Given the description of an element on the screen output the (x, y) to click on. 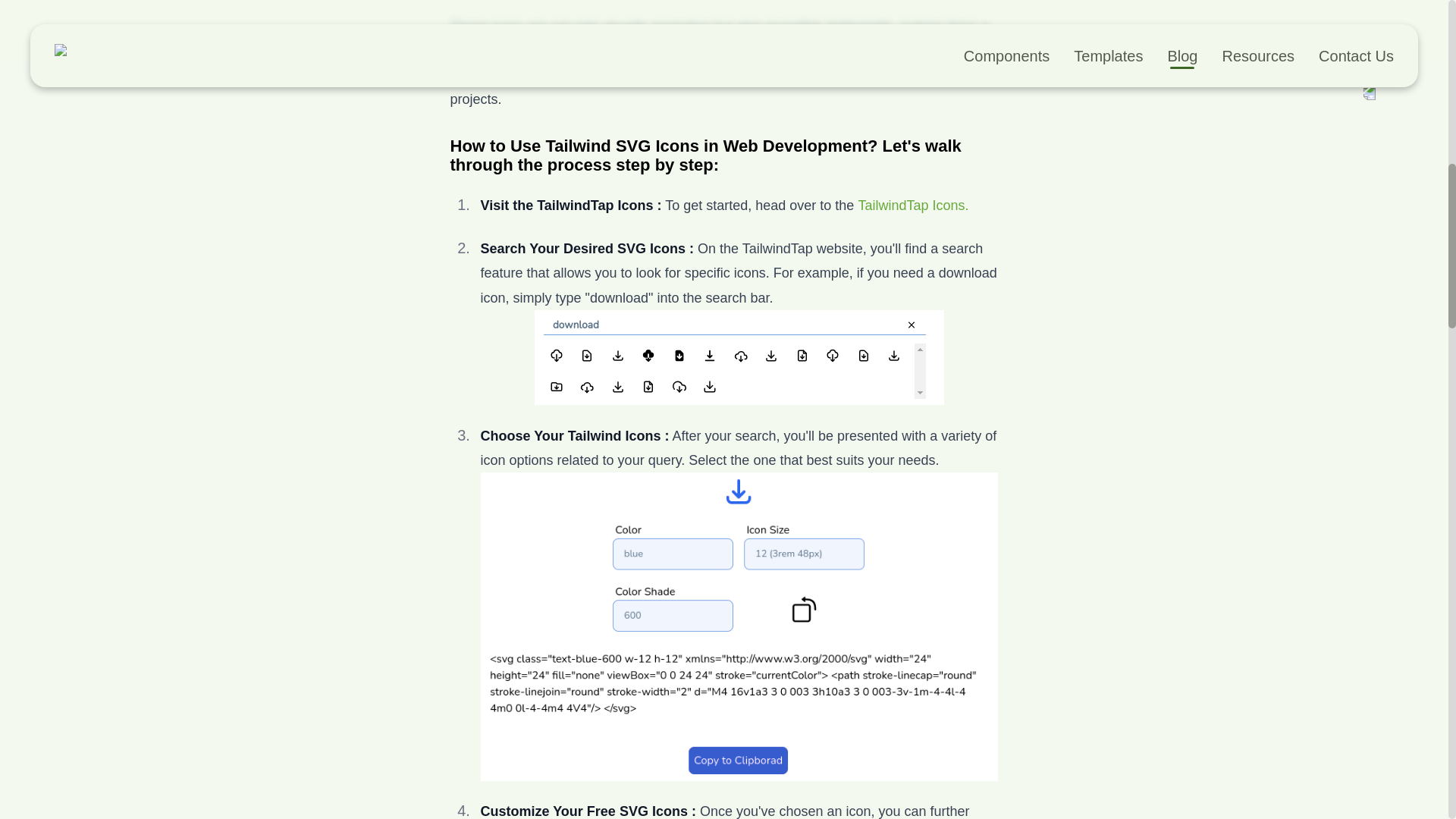
TailwindTap SVG Icons (912, 205)
Customizable Tailwind Icons (738, 357)
TailwindTap Icons. (912, 205)
